Given the description of an element on the screen output the (x, y) to click on. 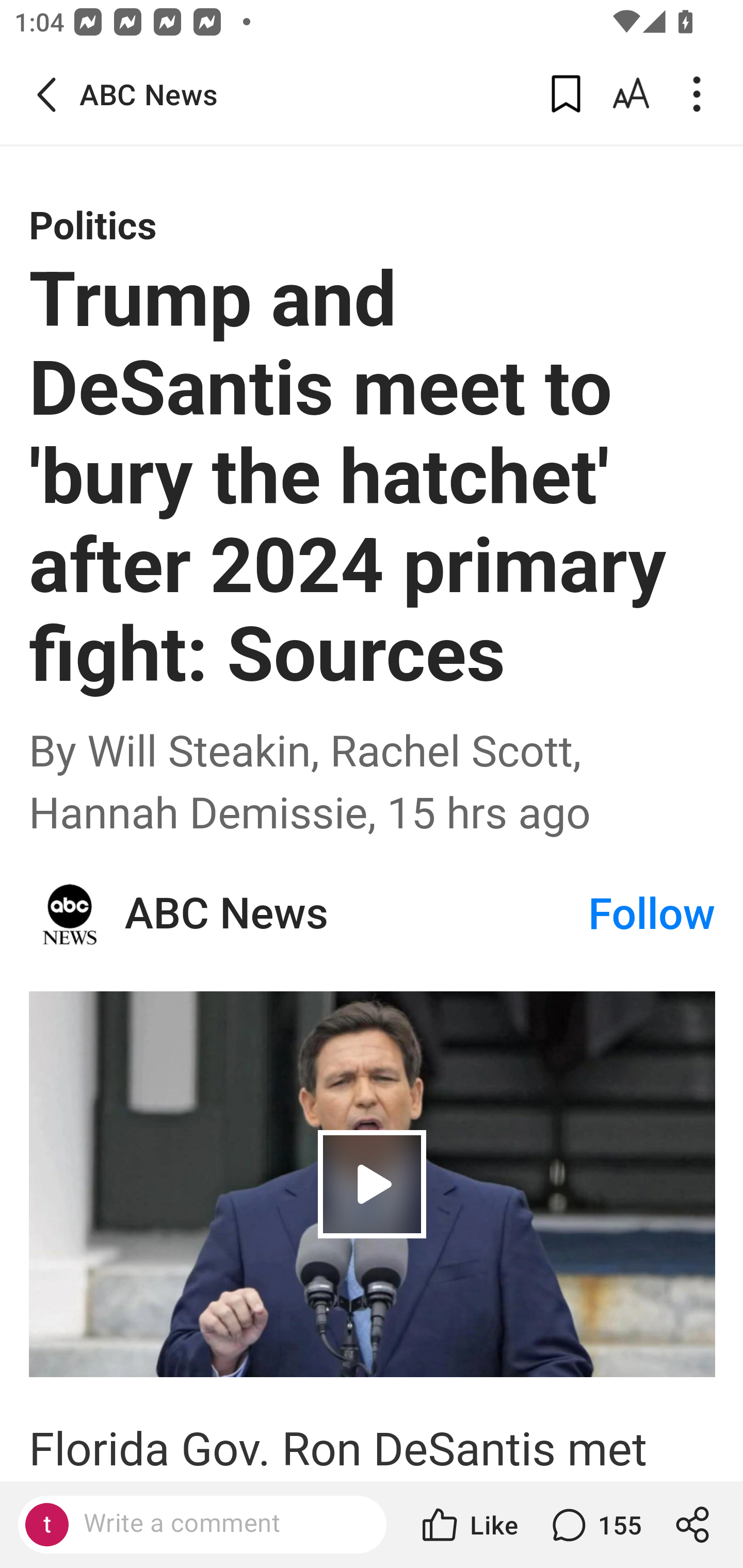
ABC (70, 913)
ABC News (355, 913)
Follow (651, 913)
Video (372, 1183)
Like (468, 1524)
155 (594, 1524)
Write a comment (201, 1524)
Write a comment (219, 1523)
